Given the description of an element on the screen output the (x, y) to click on. 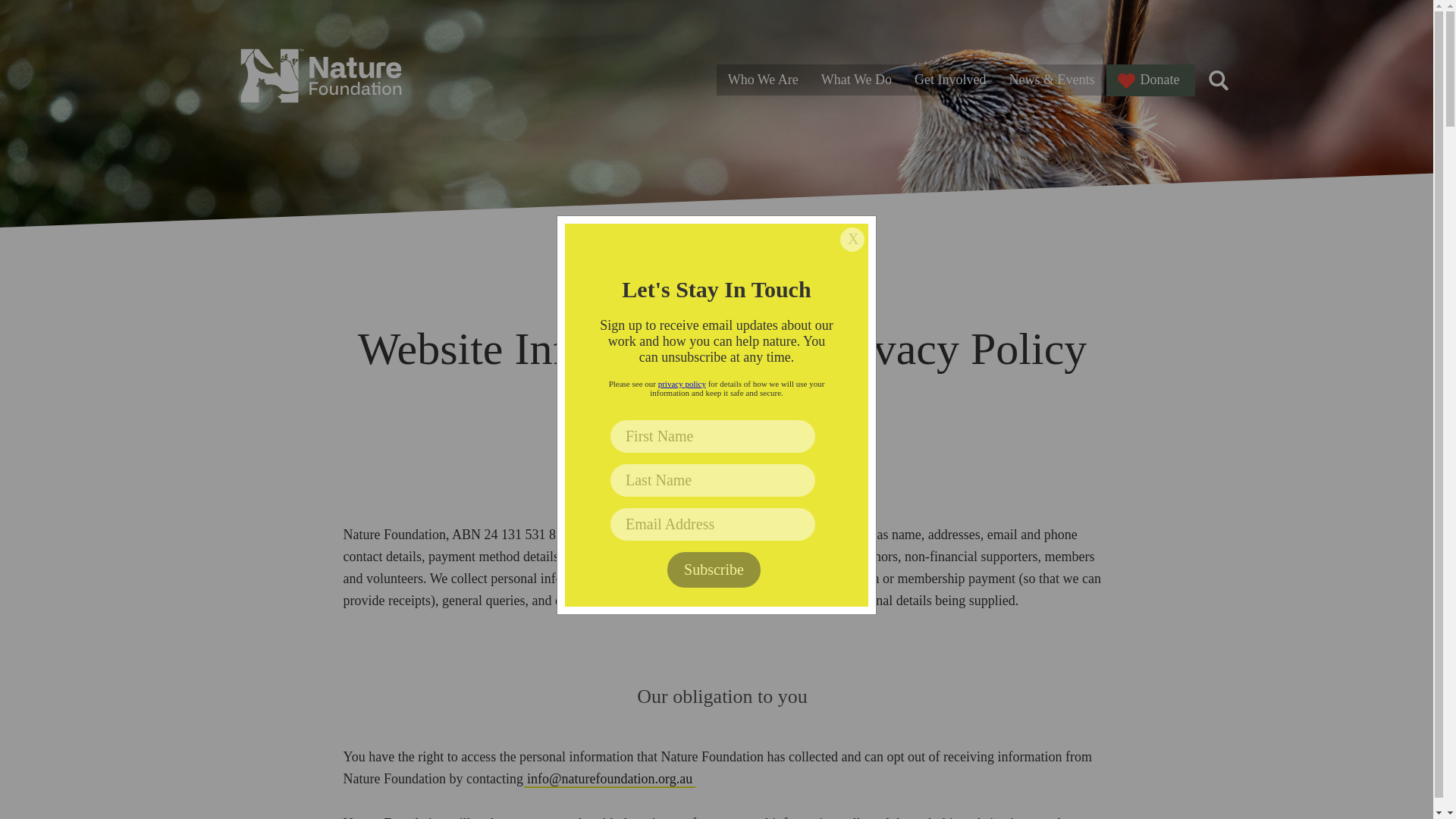
Subscribe (713, 570)
Search (113, 396)
Who We Are (762, 79)
HOME (699, 308)
What We Do (855, 79)
Get Involved (949, 79)
